Given the description of an element on the screen output the (x, y) to click on. 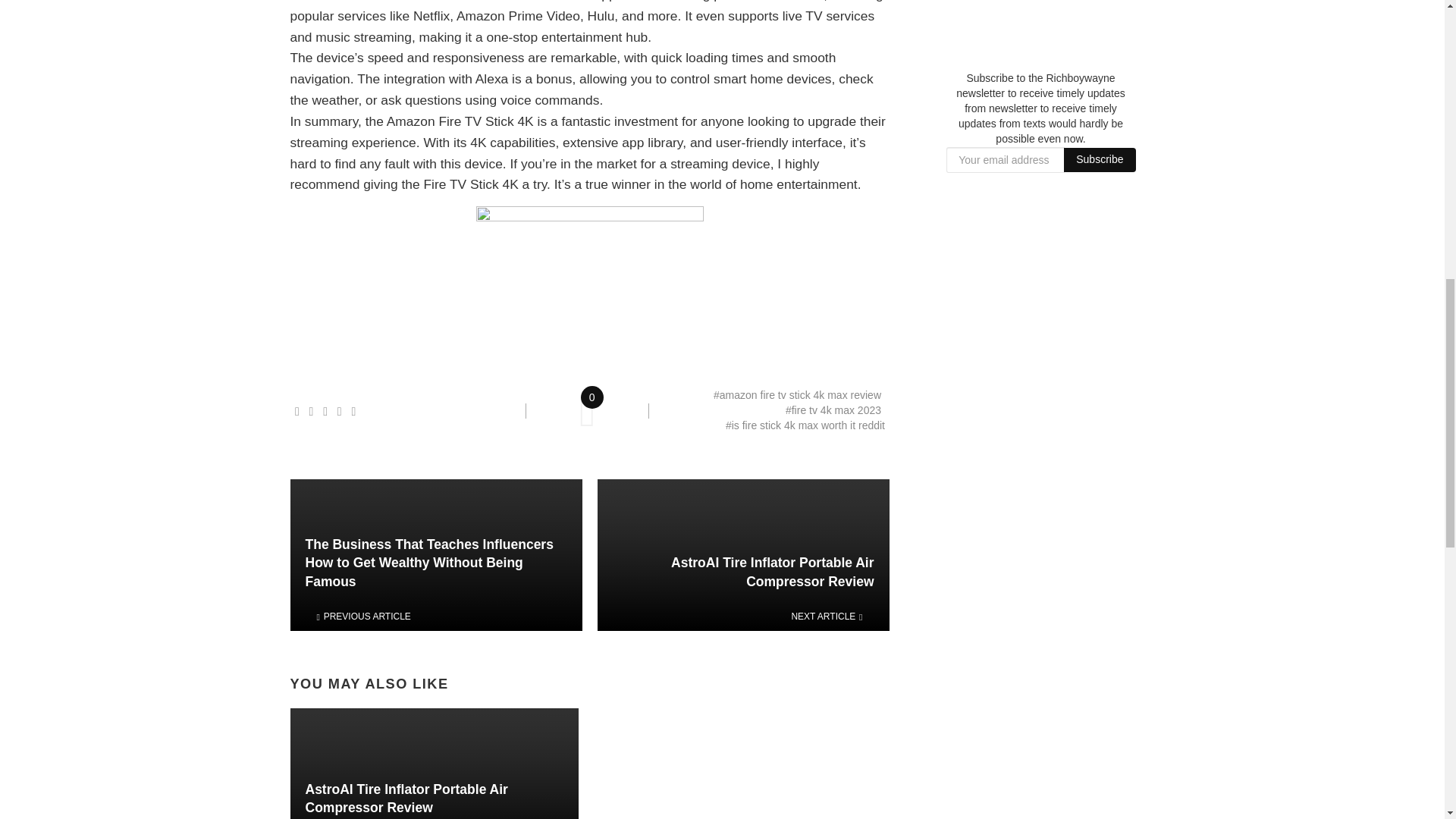
PREVIOUS ARTICLE (434, 616)
Subscribe (1099, 159)
AstroAI Tire Inflator Portable Air Compressor Review (433, 798)
NEXT ARTICLE (742, 616)
